Given the description of an element on the screen output the (x, y) to click on. 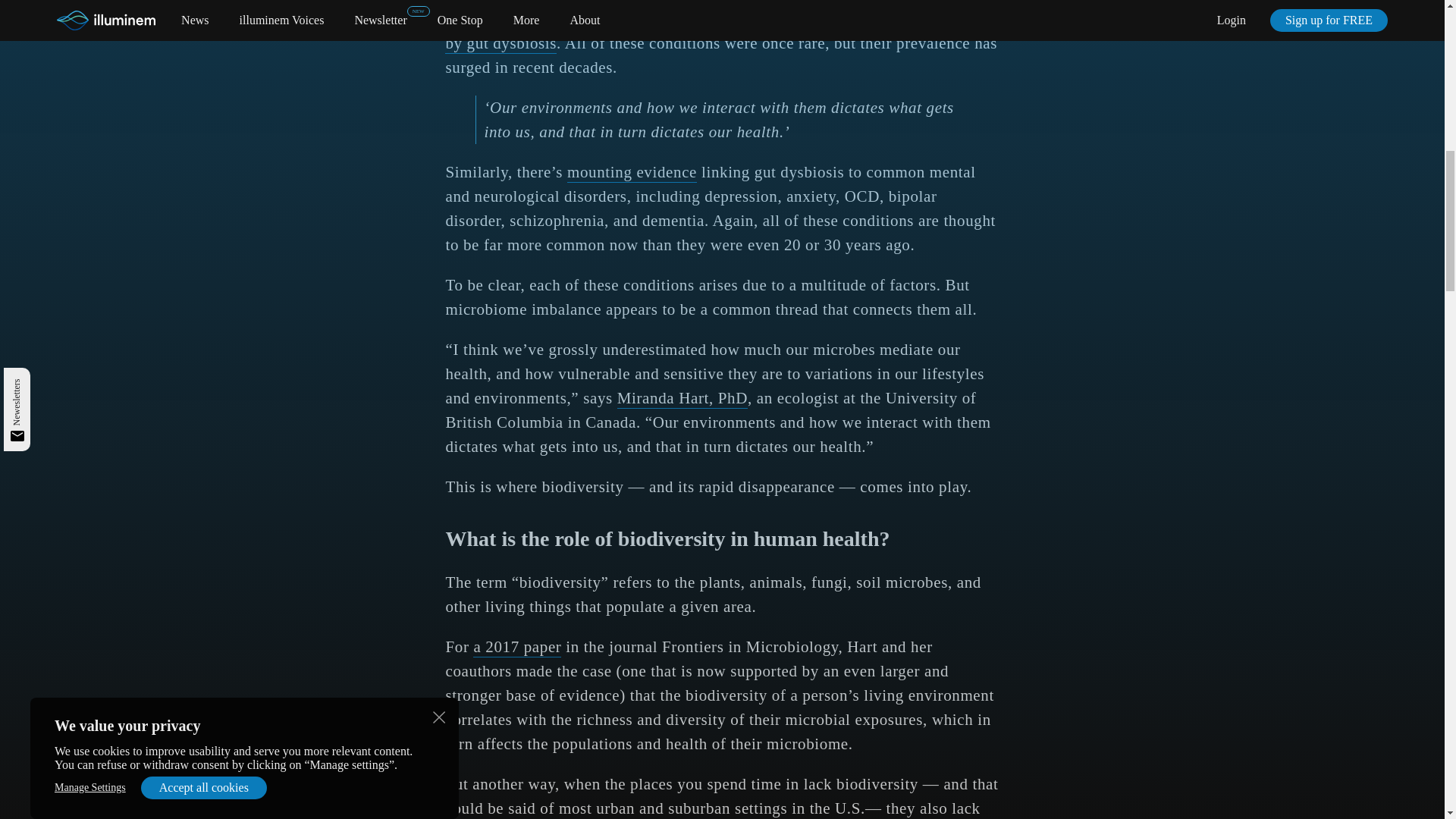
Miranda Hart, PhD (682, 398)
a 2017 paper (516, 647)
mounting evidence (632, 172)
are driven in part by gut dysbiosis (714, 31)
